Given the description of an element on the screen output the (x, y) to click on. 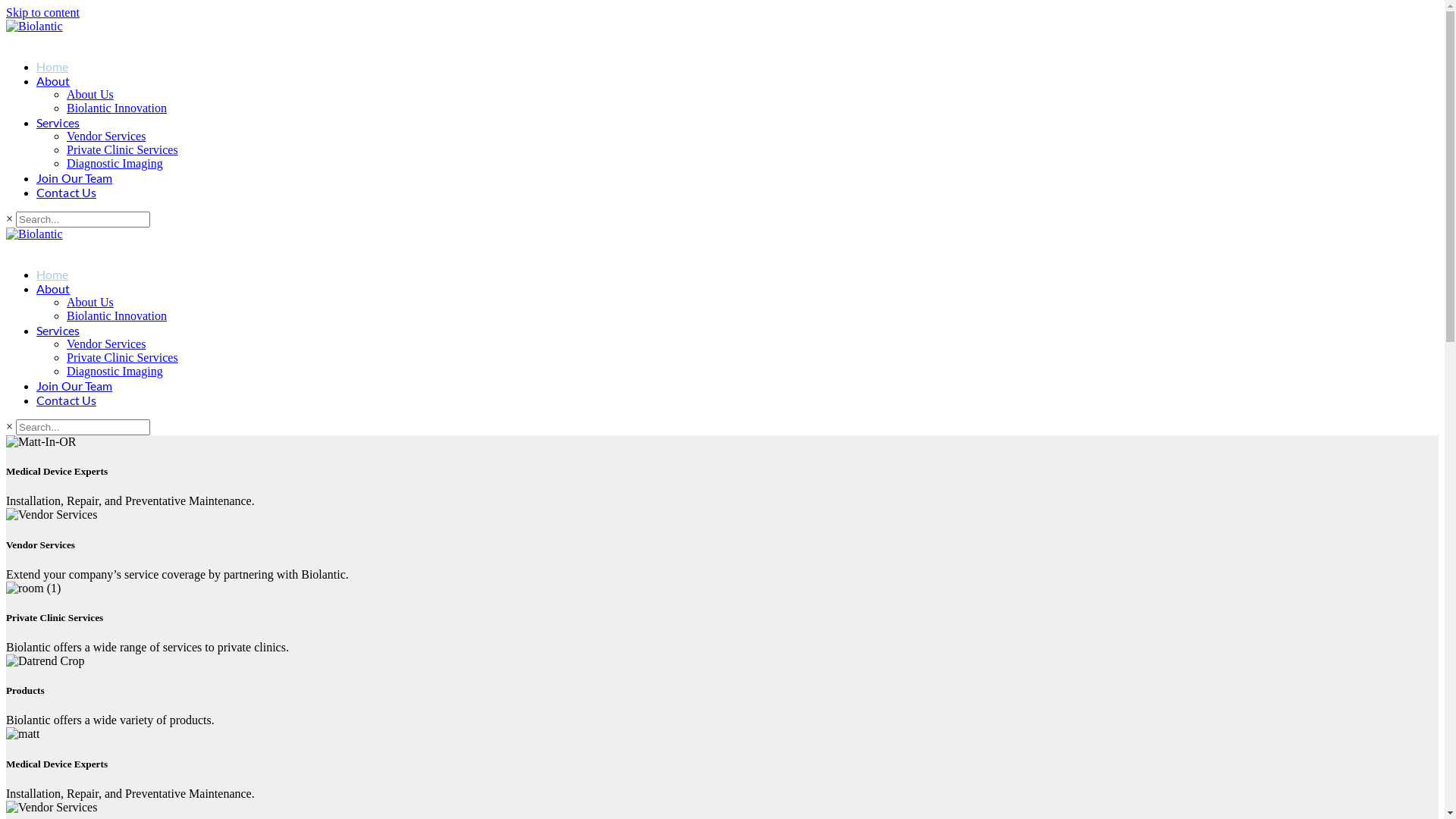
Private Clinic Services Element type: text (734, 149)
Services Element type: text (728, 122)
Contact Us Element type: text (728, 192)
Contact Us Element type: text (728, 399)
About Us Element type: text (734, 302)
Join Our Team Element type: text (728, 385)
Biolantic Innovation Element type: text (734, 108)
Diagnostic Imaging Element type: text (734, 163)
Join Our Team Element type: text (728, 177)
Home Element type: text (728, 66)
Home Element type: text (728, 273)
Private Clinic Services Element type: text (734, 357)
About Element type: text (728, 80)
About Element type: text (728, 288)
About Us Element type: text (734, 94)
Vendor Services Element type: text (734, 344)
Biolantic Innovation Element type: text (734, 316)
Skip to content Element type: text (42, 12)
Diagnostic Imaging Element type: text (734, 371)
Vendor Services Element type: text (734, 136)
Services Element type: text (728, 330)
